Given the description of an element on the screen output the (x, y) to click on. 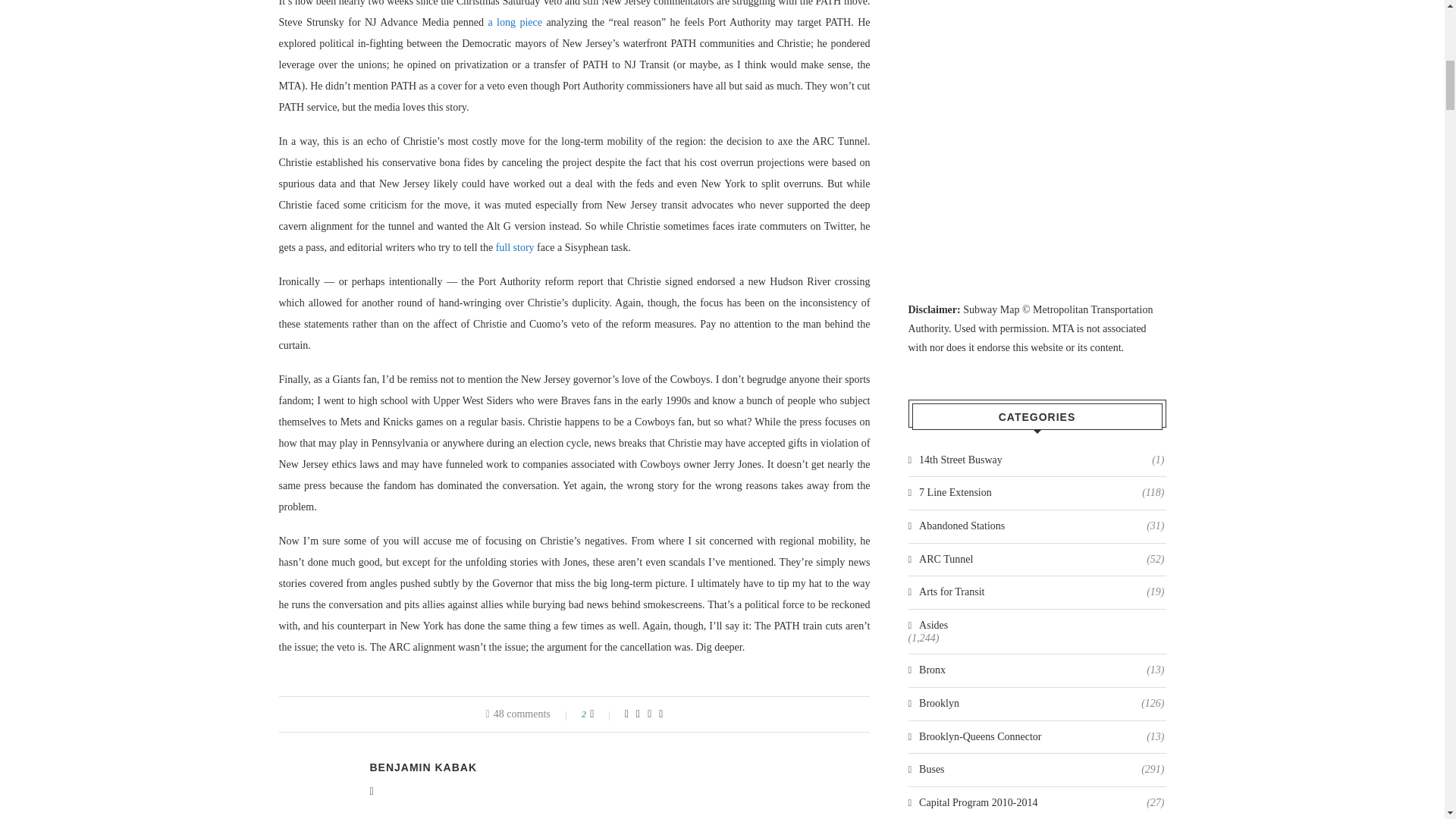
a long piece (514, 21)
BENJAMIN KABAK (423, 767)
Like (601, 714)
Posts by Benjamin Kabak (423, 767)
full story (515, 247)
